Given the description of an element on the screen output the (x, y) to click on. 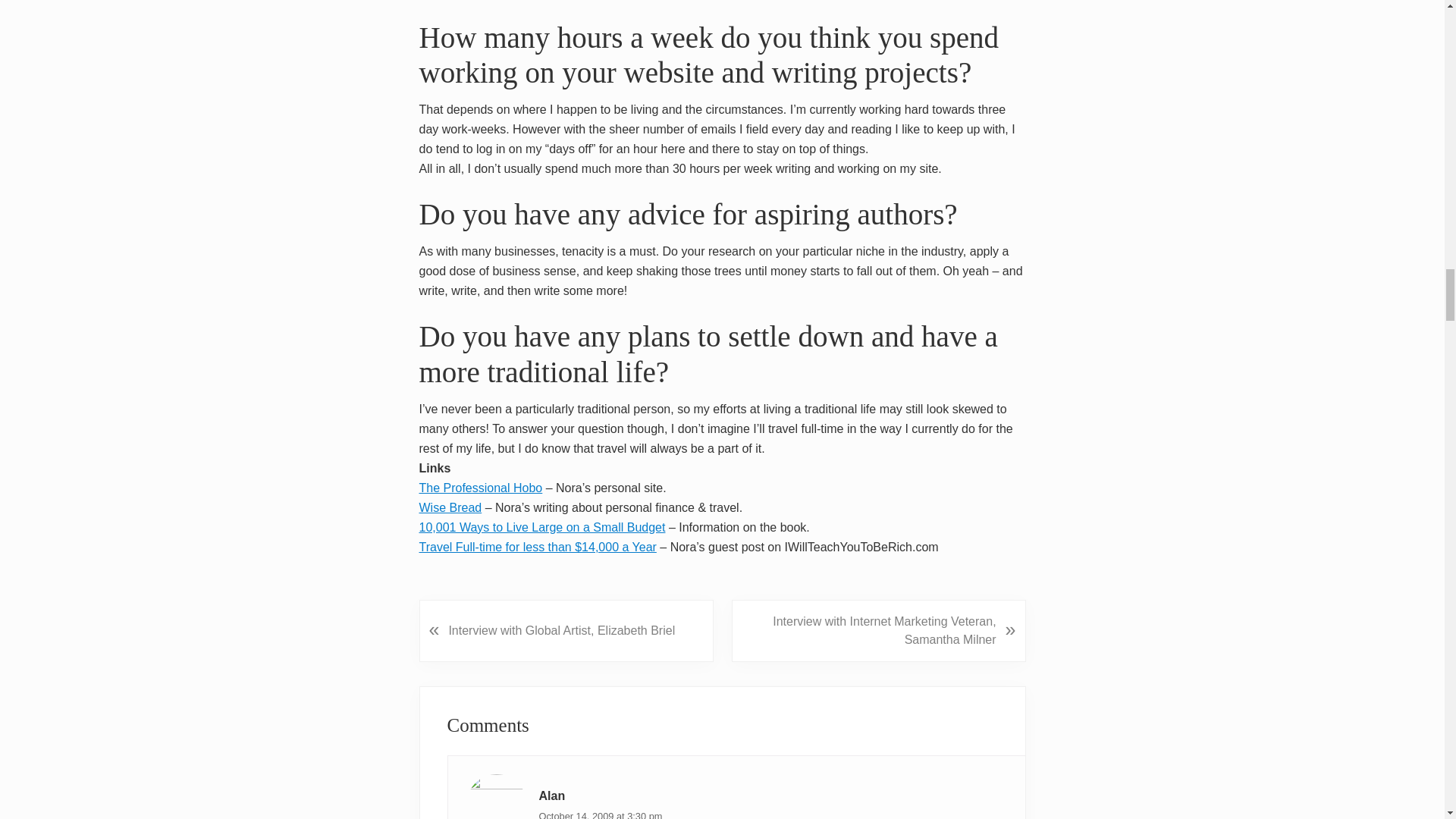
Nora Dunn on Wisebread (542, 517)
10,001 Ways to Live Large on a Small Budget (580, 536)
10,001 Ways to Live Large on a Small Budget (580, 536)
The Professional Hobo (480, 497)
October 14, 2009 at 3:30 pm (600, 814)
Wise Bread (542, 517)
The Professional Hobo (480, 497)
Alan (551, 795)
